Given the description of an element on the screen output the (x, y) to click on. 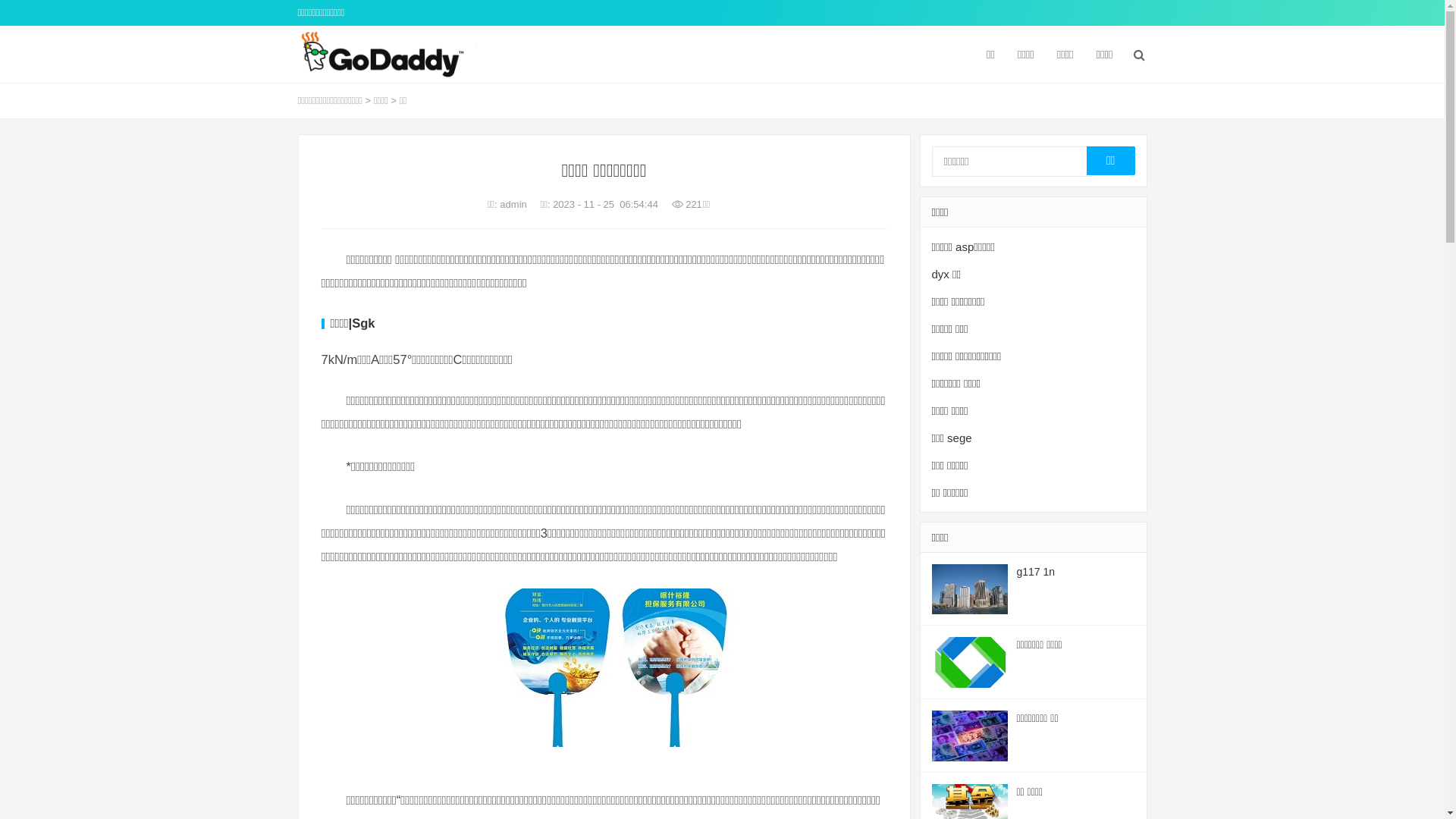
g117 1n Element type: text (1035, 571)
admin Element type: text (514, 204)
